Given the description of an element on the screen output the (x, y) to click on. 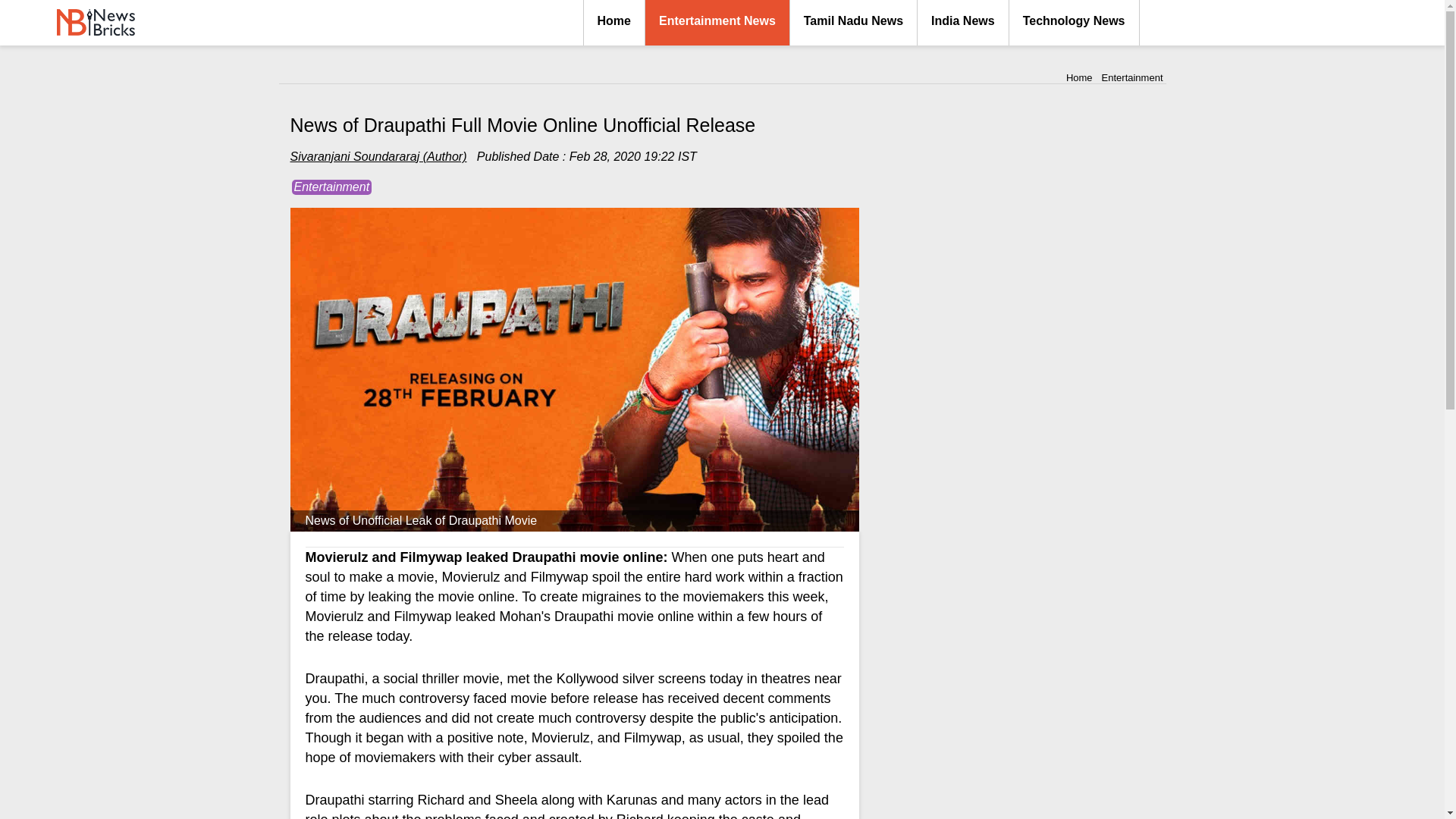
Technology News (1074, 22)
Home (1079, 77)
Entertainment News (717, 22)
Home (614, 22)
India News (963, 22)
Tamil Nadu News (853, 22)
Entertainment (331, 186)
Entertainment (1132, 77)
